Given the description of an element on the screen output the (x, y) to click on. 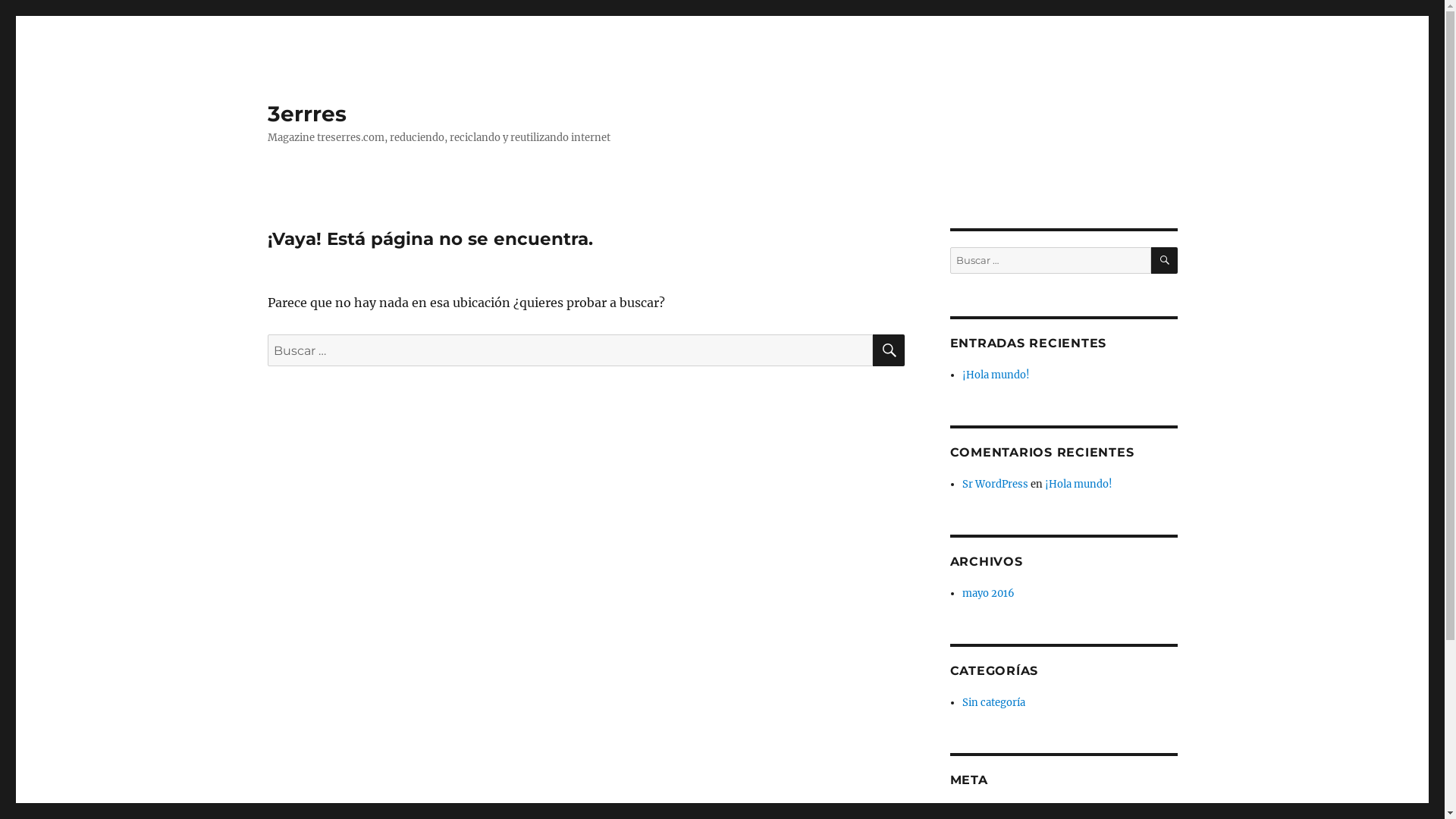
Acceder Element type: text (981, 811)
3errres Element type: text (305, 113)
BUSCAR Element type: text (1164, 260)
Sr WordPress Element type: text (995, 483)
BUSCAR Element type: text (887, 350)
mayo 2016 Element type: text (988, 592)
